Given the description of an element on the screen output the (x, y) to click on. 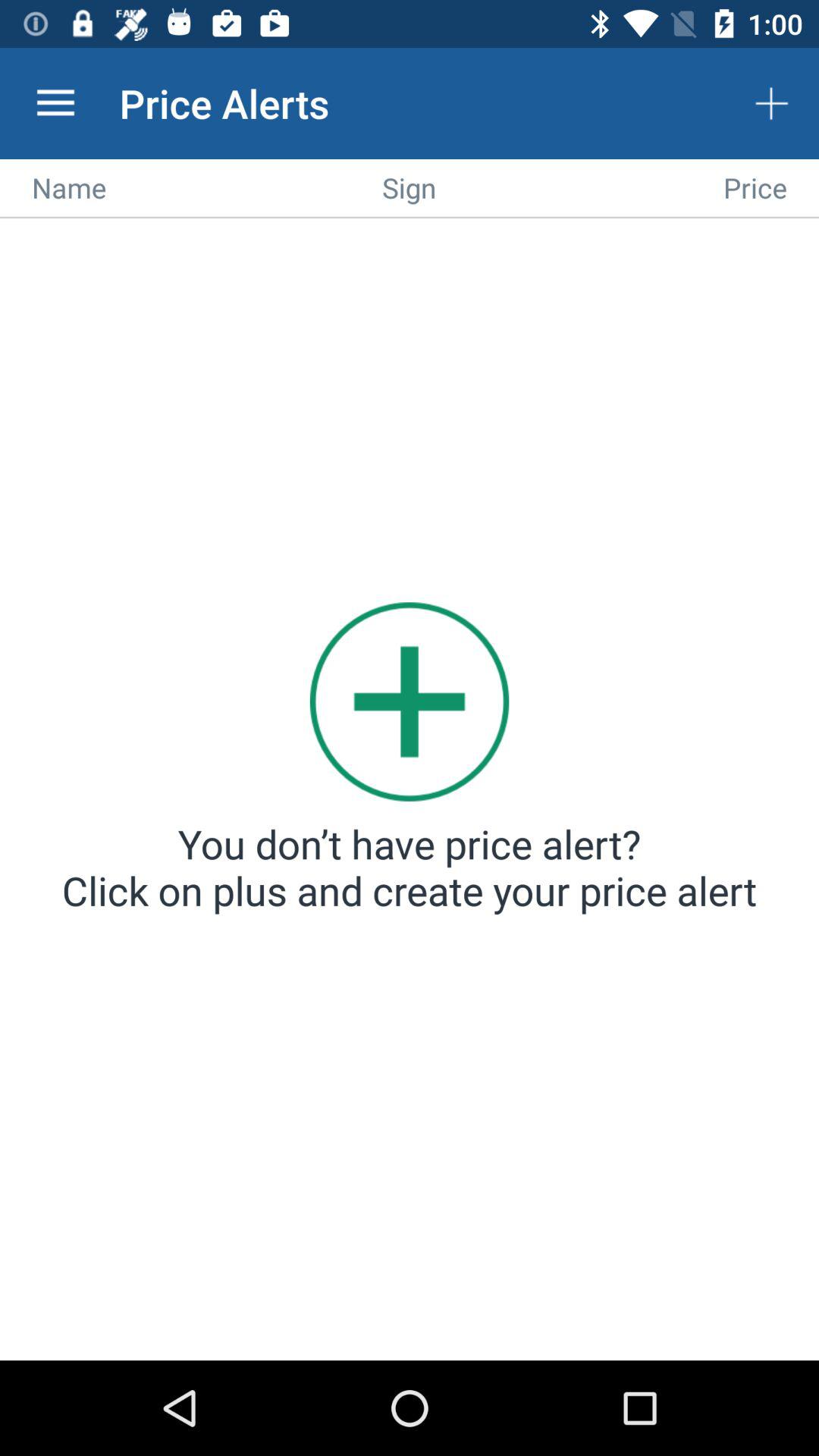
select the app to the left of the price alerts icon (55, 103)
